Given the description of an element on the screen output the (x, y) to click on. 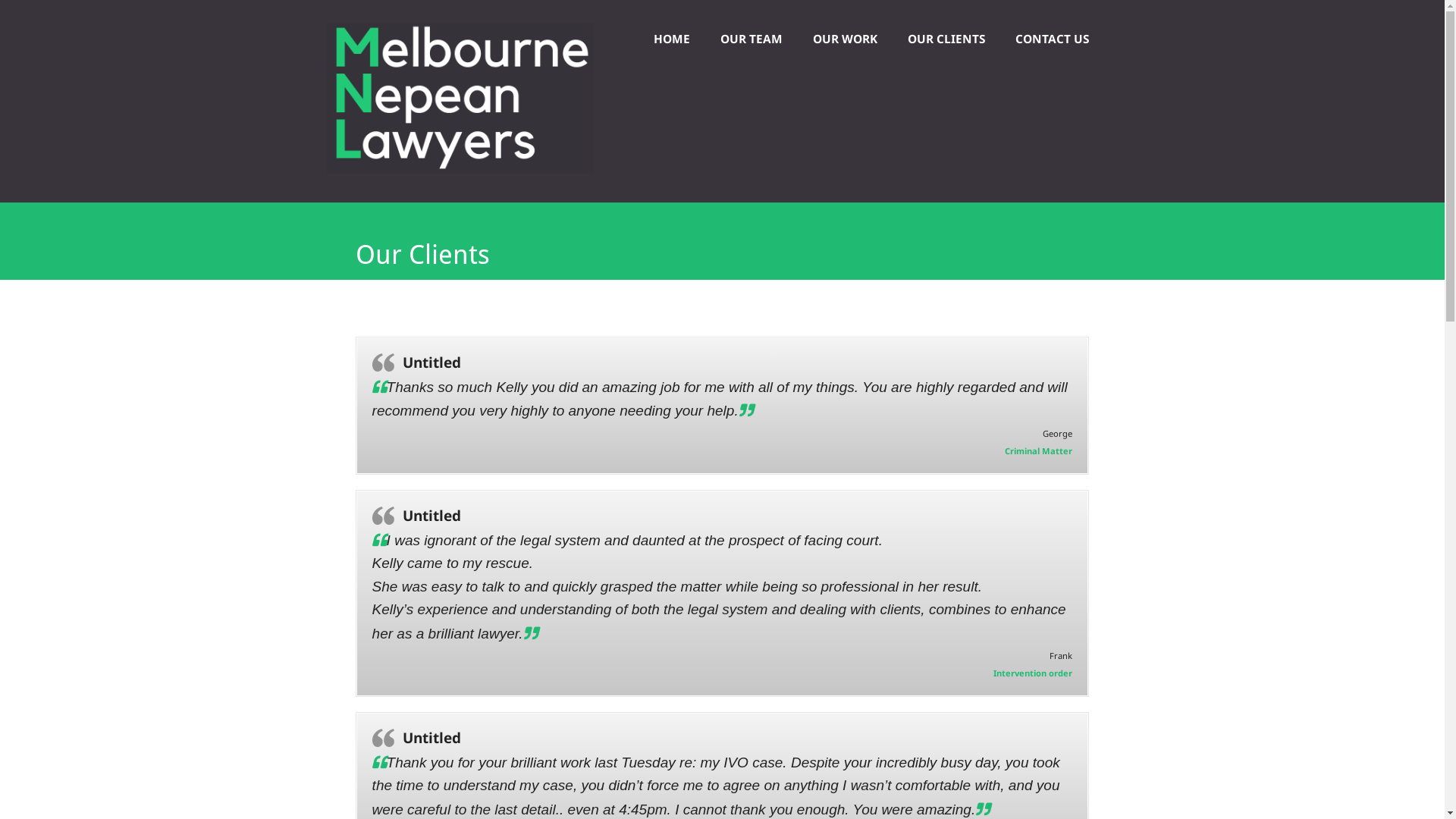
OUR TEAM Element type: text (751, 39)
OUR CLIENTS Element type: text (946, 39)
CONTACT US Element type: text (1052, 39)
OUR WORK Element type: text (844, 39)
HOME Element type: text (671, 39)
Melbourne Nepean Lawyers Element type: hover (459, 168)
